Given the description of an element on the screen output the (x, y) to click on. 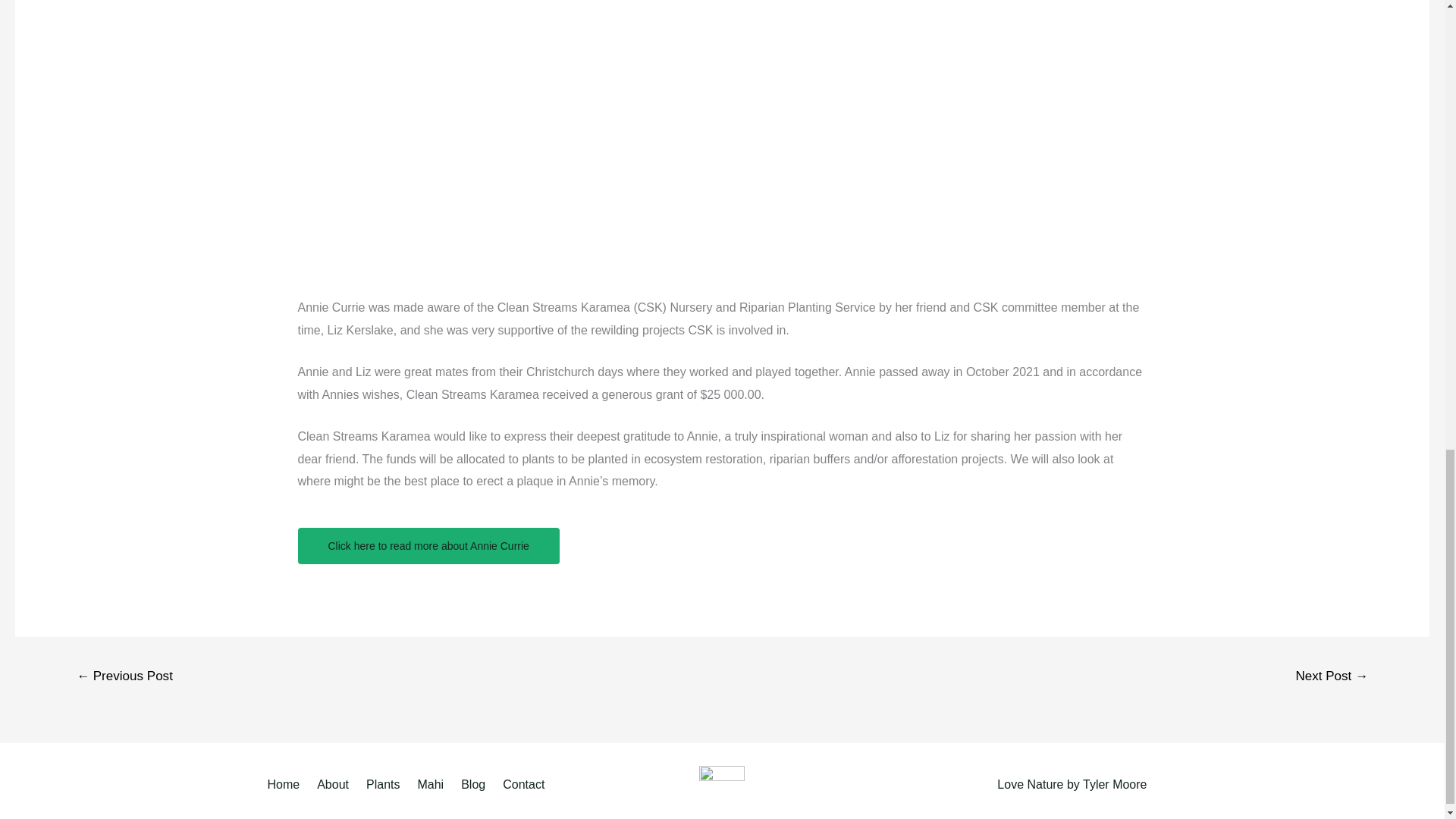
Click here to read more about Annie Currie (428, 545)
About (335, 784)
Contact (526, 784)
Plants (384, 784)
Home (288, 784)
Blog (475, 784)
Mahi (432, 784)
